Given the description of an element on the screen output the (x, y) to click on. 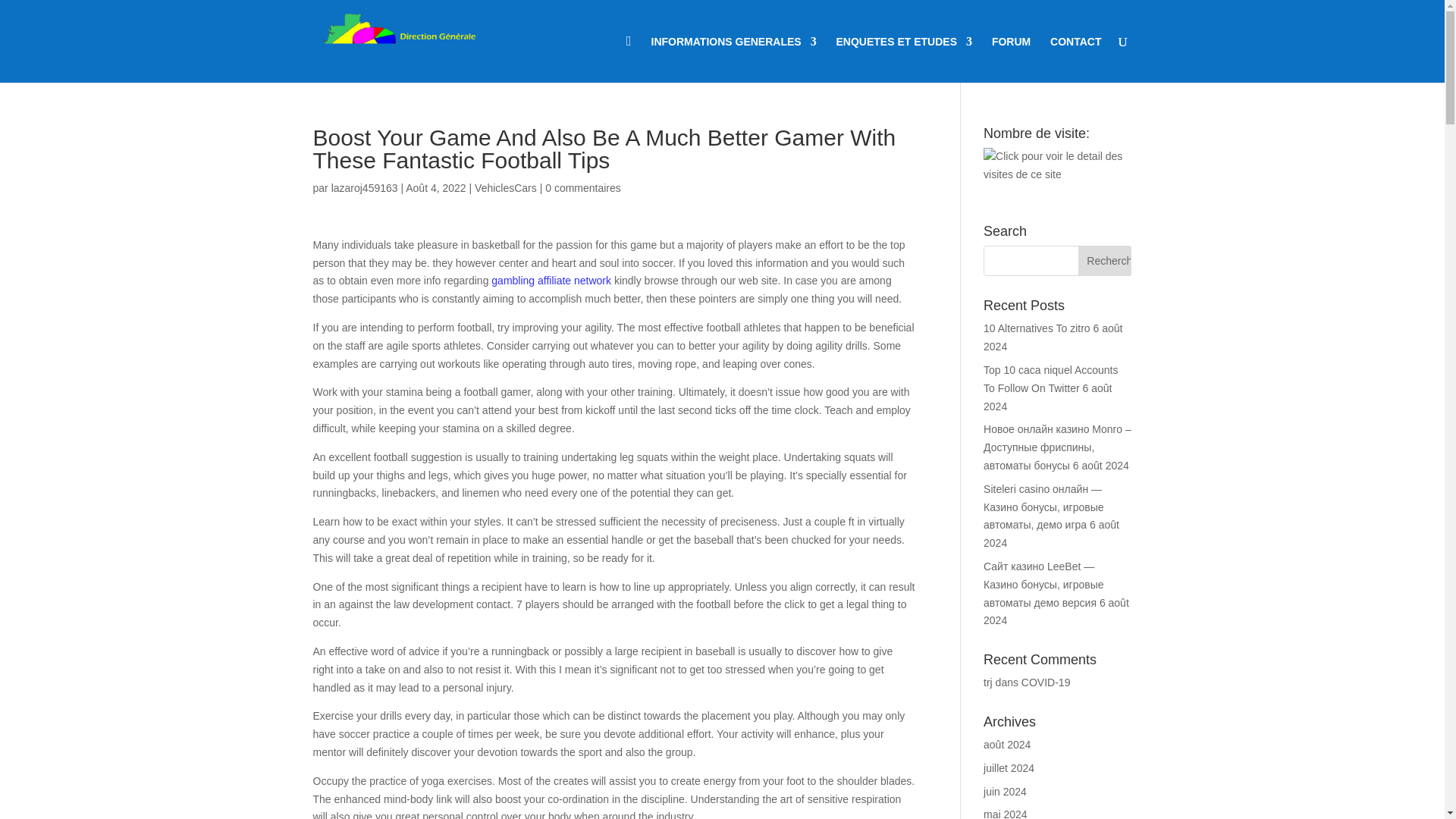
CONTACT (1074, 59)
Articles de lazaroj459163 (364, 187)
Click pour voir le detail des visites de ce site (1057, 166)
VehiclesCars (505, 187)
Rechercher (1104, 260)
FORUM (1010, 59)
lazaroj459163 (364, 187)
INFORMATIONS GENERALES (733, 59)
ENQUETES ET ETUDES (903, 59)
